Given the description of an element on the screen output the (x, y) to click on. 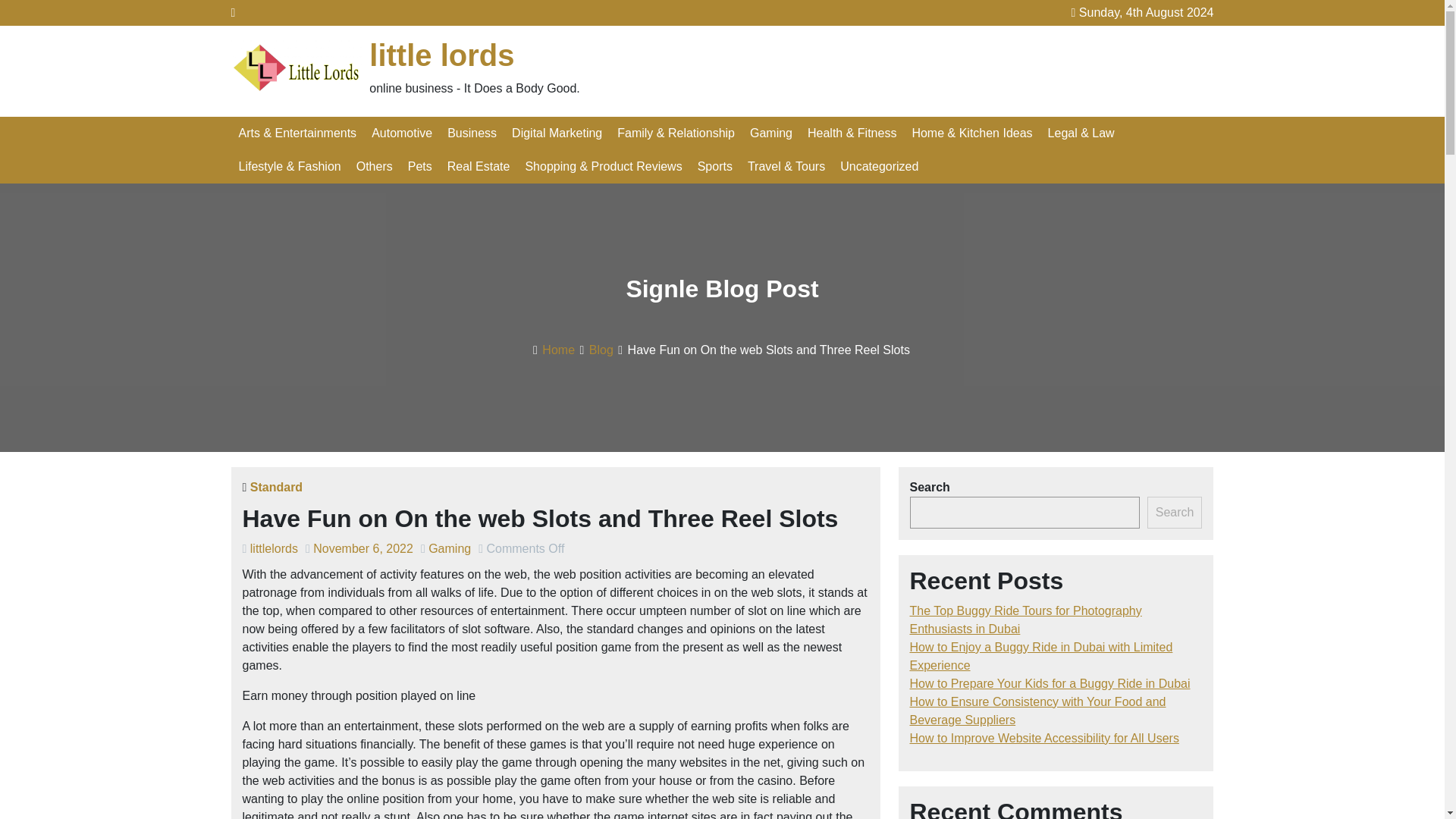
Pets (419, 166)
Business (471, 133)
How to Enjoy a Buggy Ride in Dubai with Limited Experience (1041, 655)
How to Improve Website Accessibility for All Users (1044, 738)
Sports (714, 166)
Gaming (770, 133)
Automotive (401, 133)
Home (558, 349)
little lords (441, 55)
Search (1174, 512)
Gaming (449, 548)
Digital Marketing (556, 133)
November 6, 2022 (363, 548)
Real Estate (478, 166)
